Given the description of an element on the screen output the (x, y) to click on. 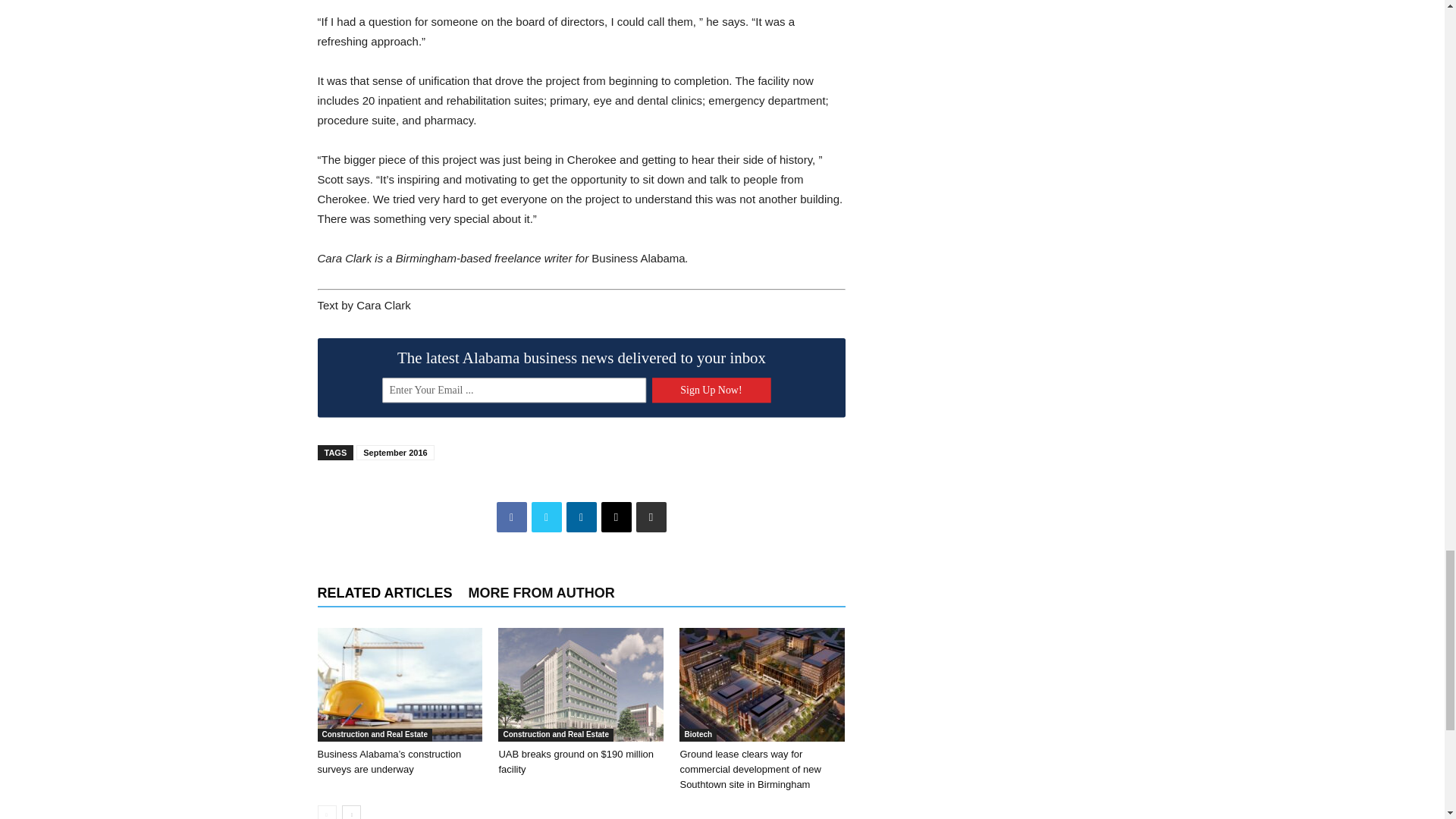
Facebook (510, 517)
Twitter (545, 517)
